Given the description of an element on the screen output the (x, y) to click on. 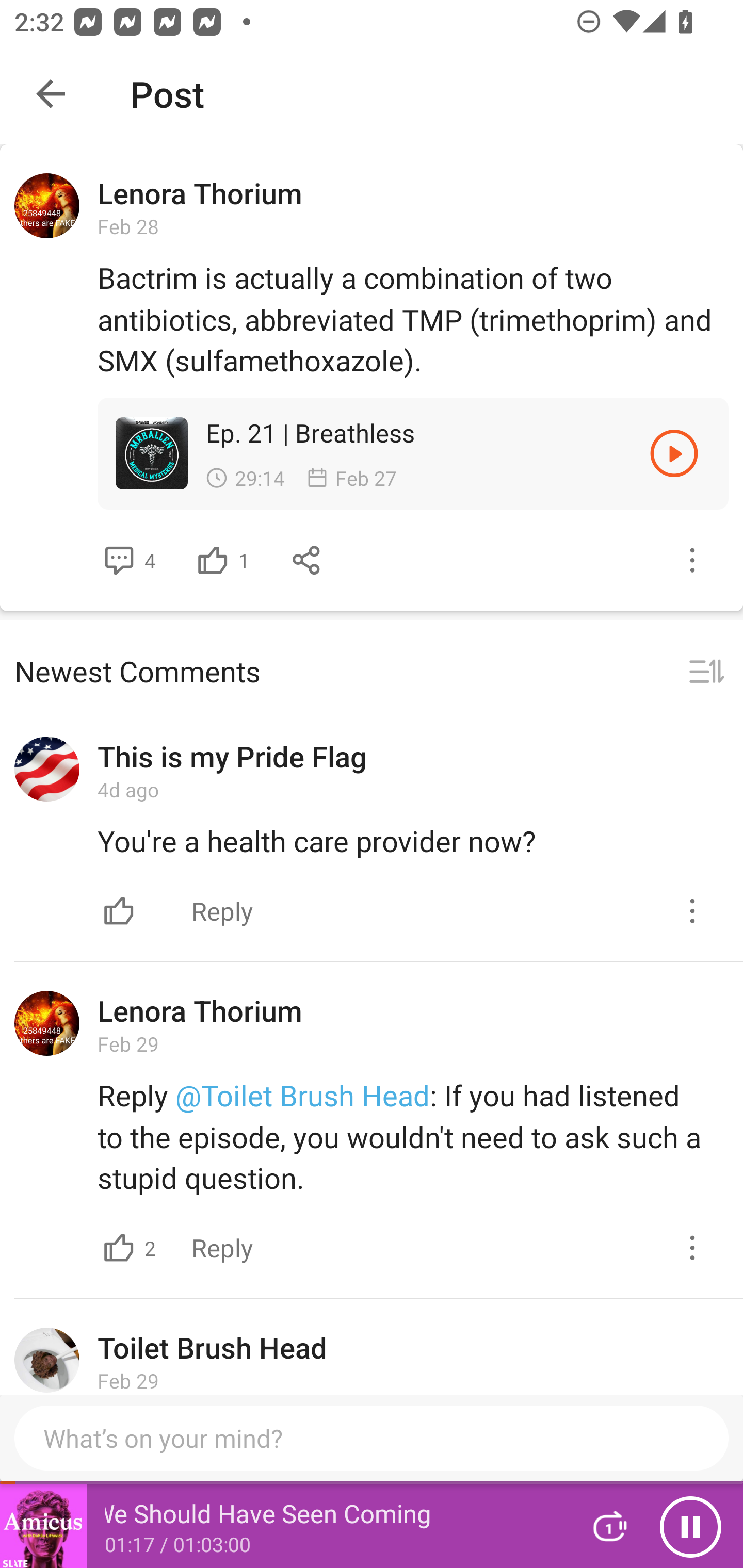
Navigate up (50, 93)
Ep. 21 | Breathless 1 29:14  Feb 27  (412, 453)
 (673, 453)
 (119, 560)
 (212, 560)
 (307, 560)
 (692, 560)
 (706, 671)
 (119, 910)
 (692, 910)
Reply (221, 910)
 (119, 1248)
 (692, 1248)
Reply (221, 1247)
What’s on your mind? (371, 1437)
Pause (690, 1526)
